Given the description of an element on the screen output the (x, y) to click on. 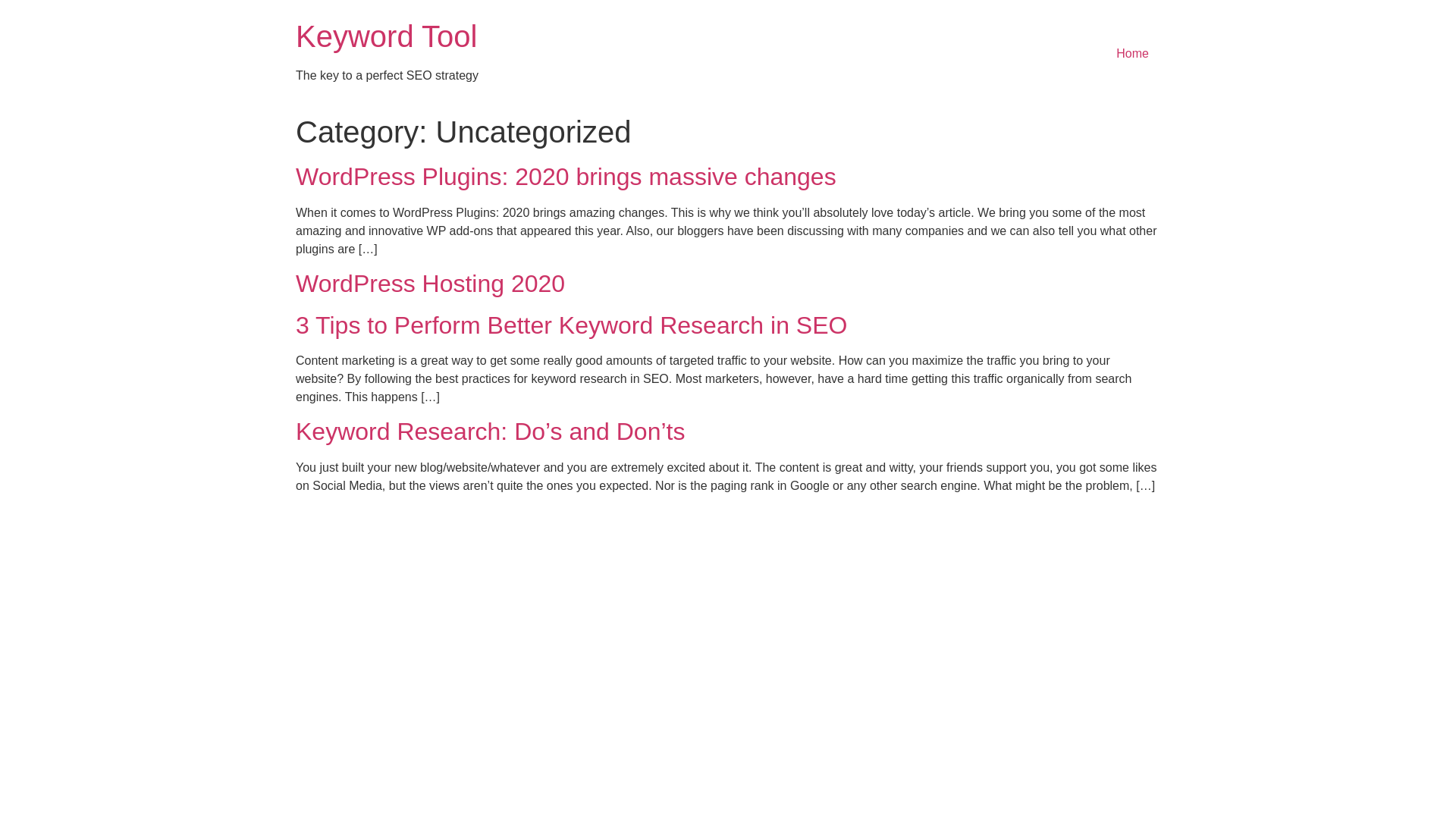
Keyword Tool Element type: text (385, 36)
WordPress Plugins: 2020 brings massive changes Element type: text (565, 176)
WordPress Hosting 2020 Element type: text (429, 283)
3 Tips to Perform Better Keyword Research in SEO Element type: text (571, 324)
Home Element type: text (1132, 53)
